Given the description of an element on the screen output the (x, y) to click on. 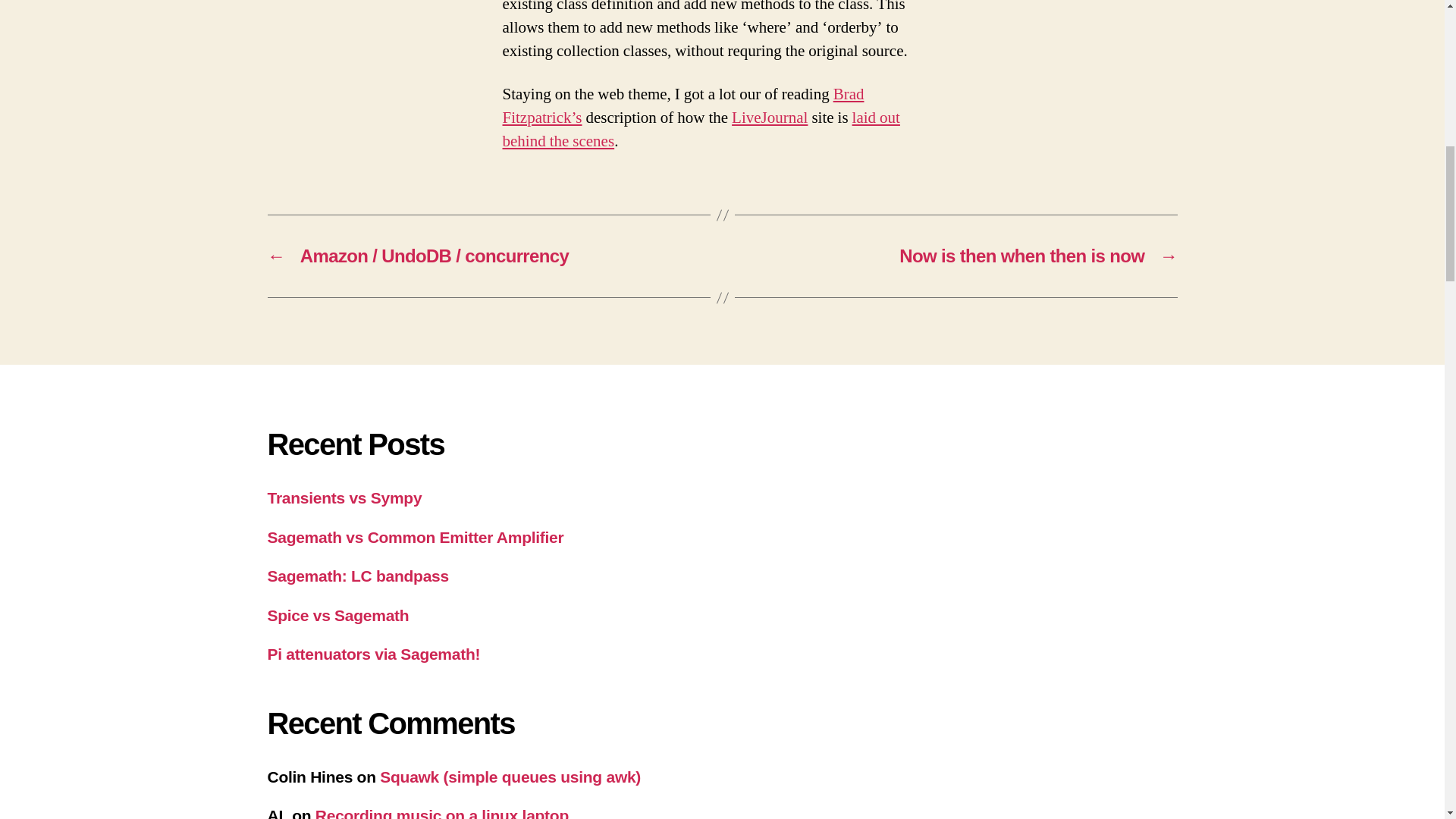
Sagemath: LC bandpass (357, 575)
Recording music on a linux laptop (442, 812)
Sagemath vs Common Emitter Amplifier (414, 536)
Spice vs Sagemath (337, 615)
Transients vs Sympy (344, 497)
laid out behind the scenes (700, 129)
Pi attenuators via Sagemath! (373, 653)
LiveJournal (770, 117)
